Given the description of an element on the screen output the (x, y) to click on. 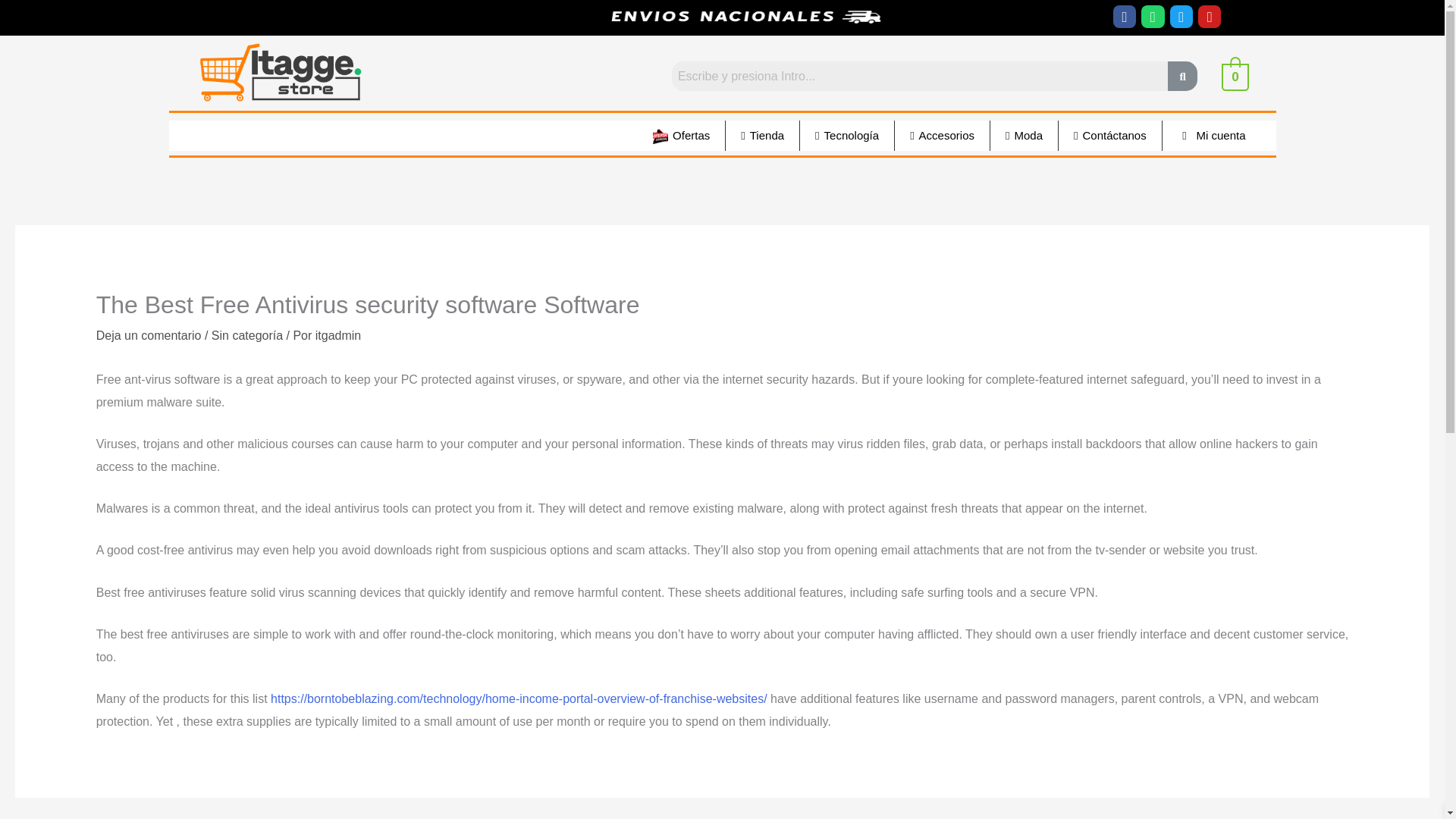
Facebook (1124, 15)
Youtube (1209, 15)
Ofertas (681, 135)
itgadmin (338, 335)
Ver todas las entradas de itgadmin (338, 335)
Mi cuenta (1210, 135)
Tienda (762, 135)
Accesorios (942, 135)
Twitter (1181, 15)
Buscar (919, 75)
